Given the description of an element on the screen output the (x, y) to click on. 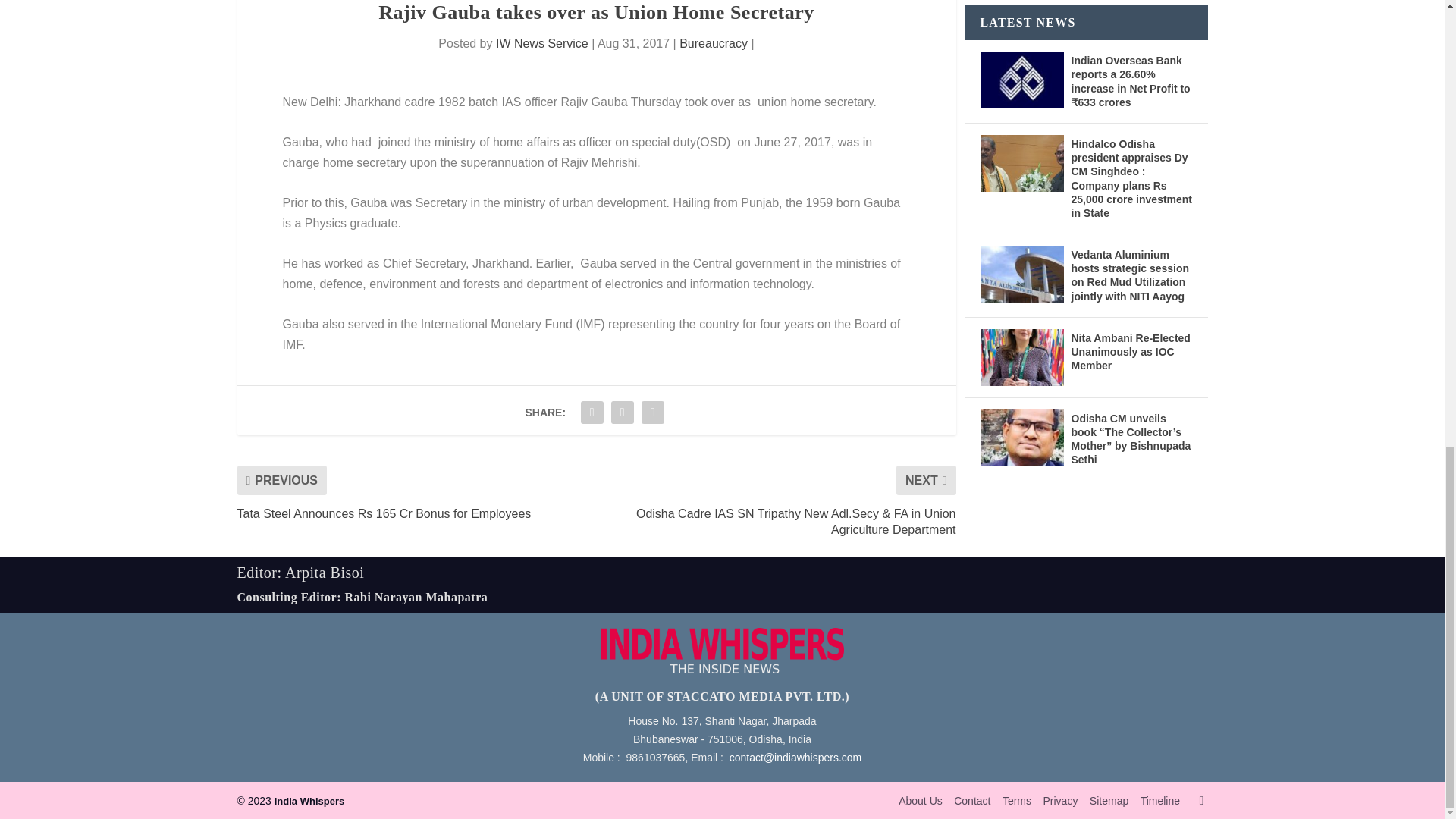
Posts by IW News Service (542, 42)
